Given the description of an element on the screen output the (x, y) to click on. 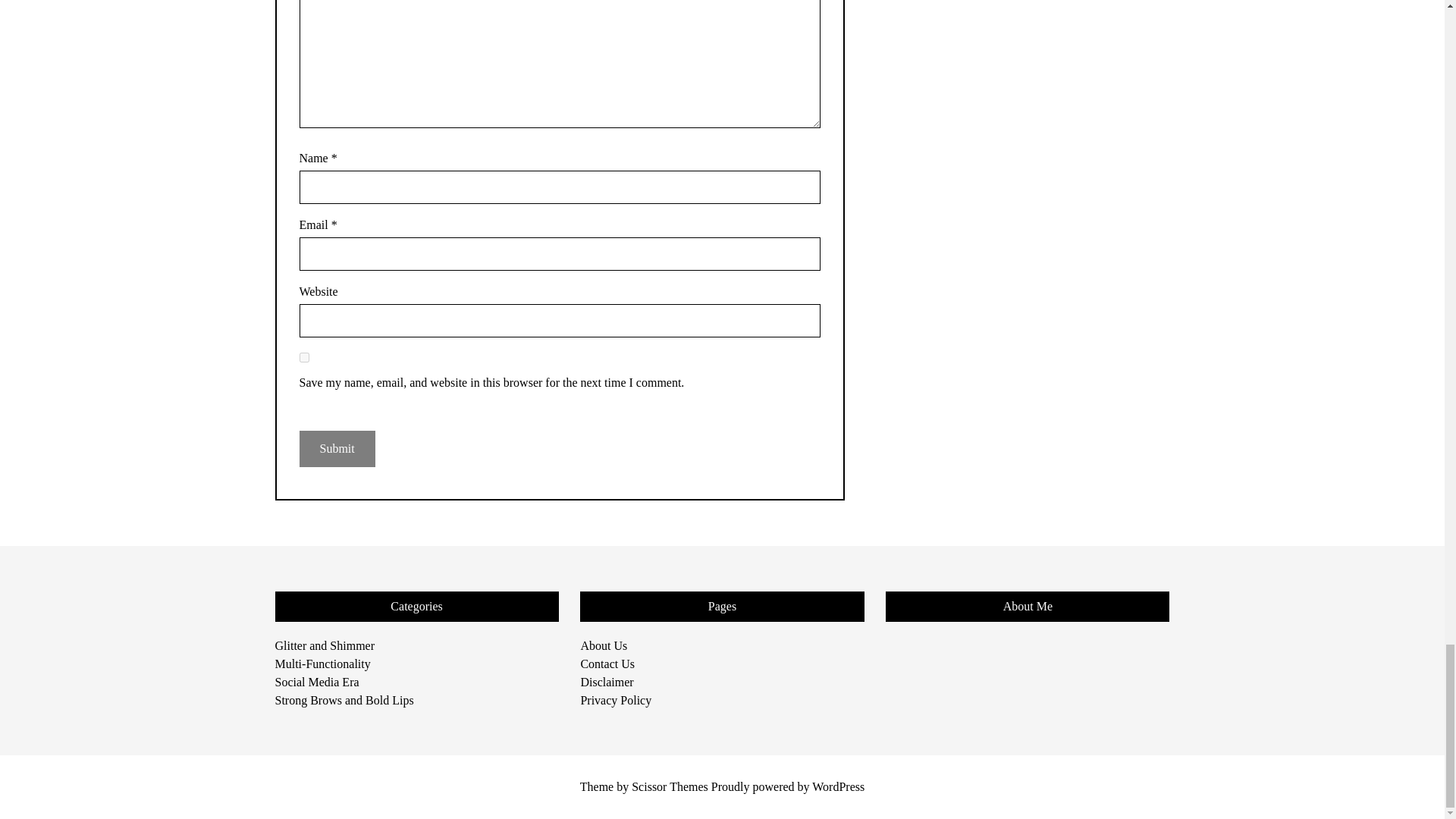
yes (303, 357)
Submit (336, 448)
Submit (336, 448)
